Given the description of an element on the screen output the (x, y) to click on. 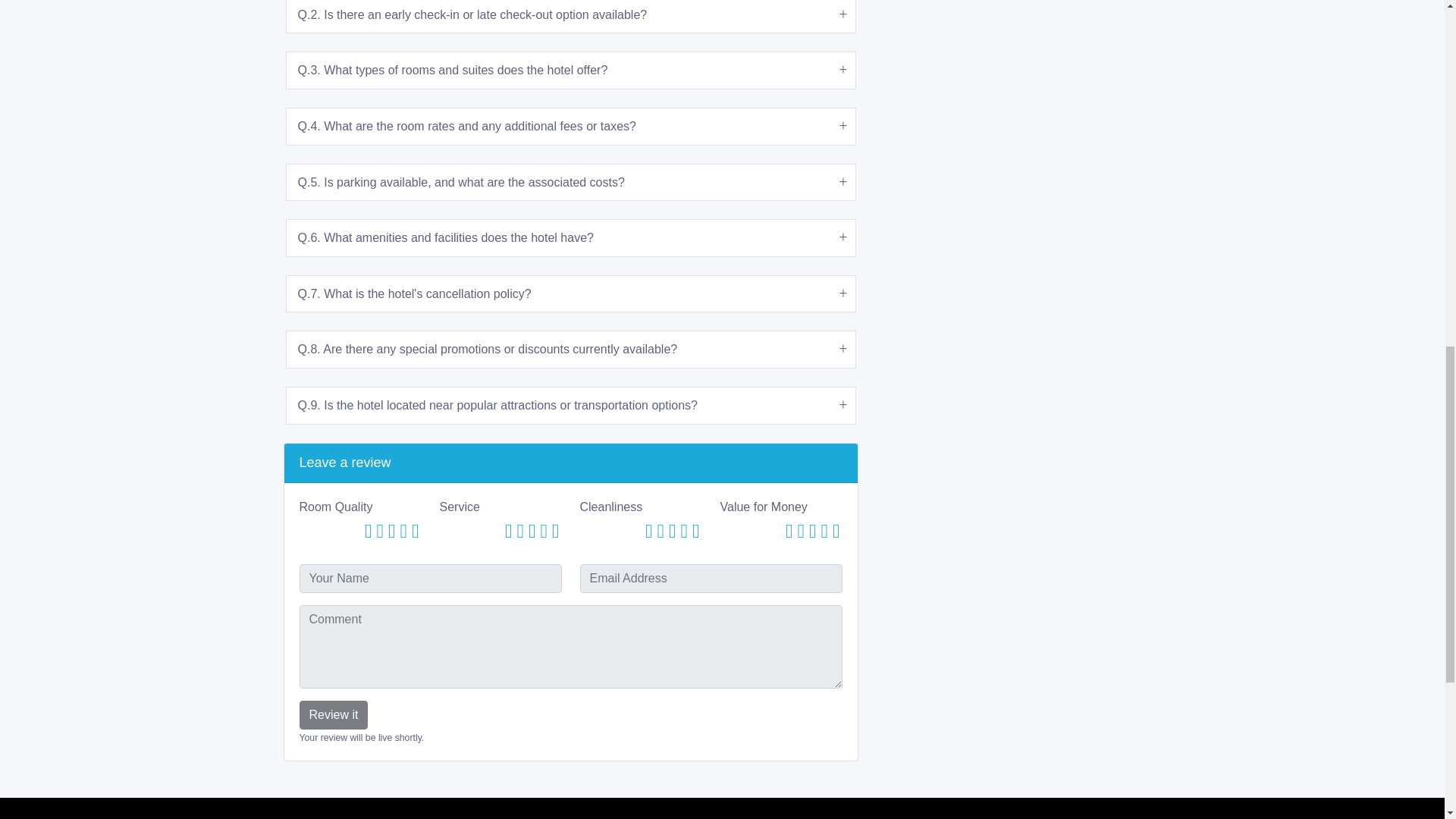
Q.7. What is the hotel's cancellation policy? (571, 294)
Q.6. What amenities and facilities does the hotel have? (571, 238)
Q.3. What types of rooms and suites does the hotel offer? (571, 70)
Review it (333, 715)
